Given the description of an element on the screen output the (x, y) to click on. 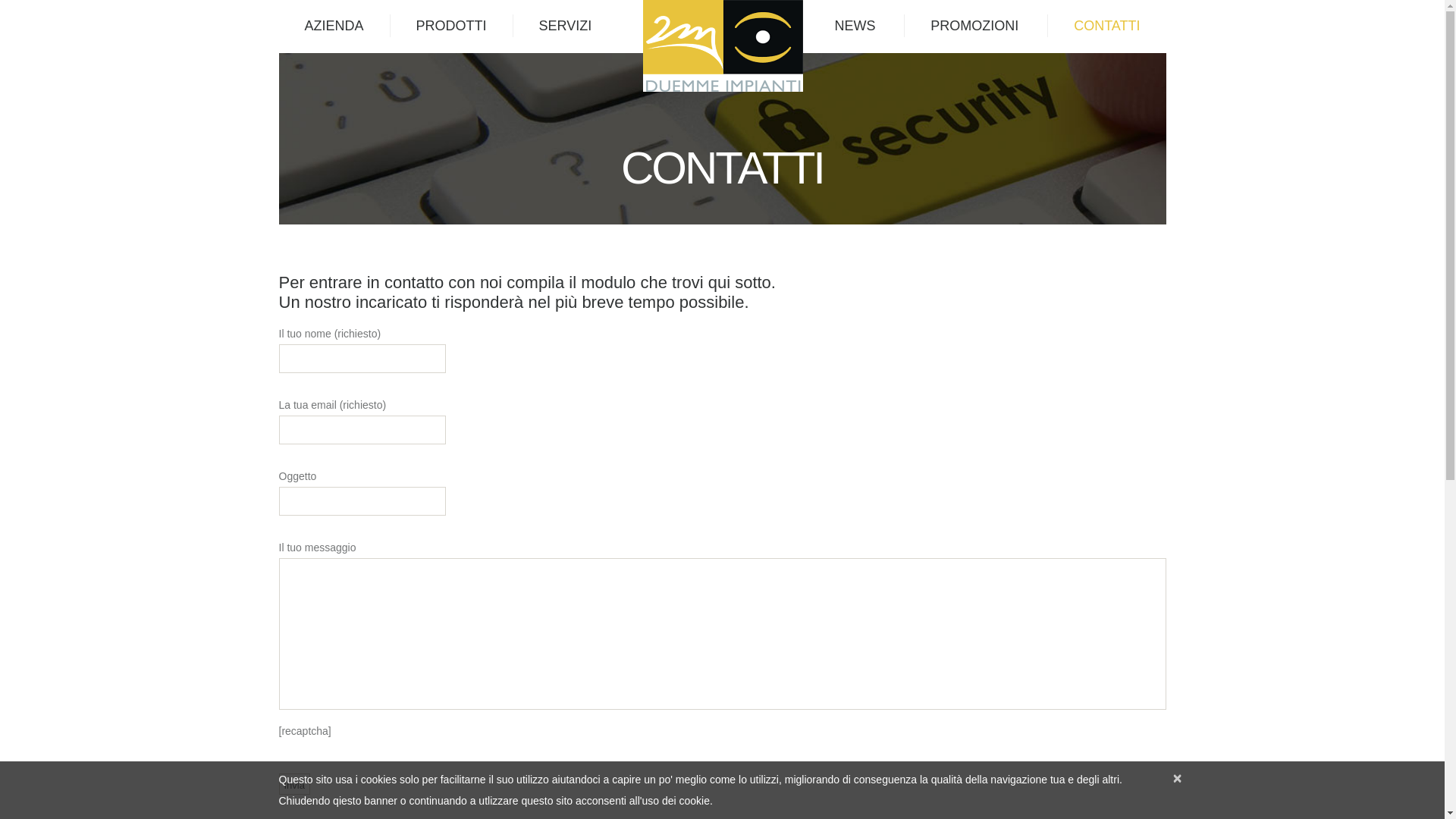
AZIENDA Element type: text (334, 25)
SERVIZI Element type: text (565, 25)
CONTATTI Element type: text (1106, 25)
PROMOZIONI Element type: text (974, 25)
Invia Element type: text (294, 783)
NEWS Element type: text (854, 25)
PRODOTTI Element type: text (451, 25)
